Given the description of an element on the screen output the (x, y) to click on. 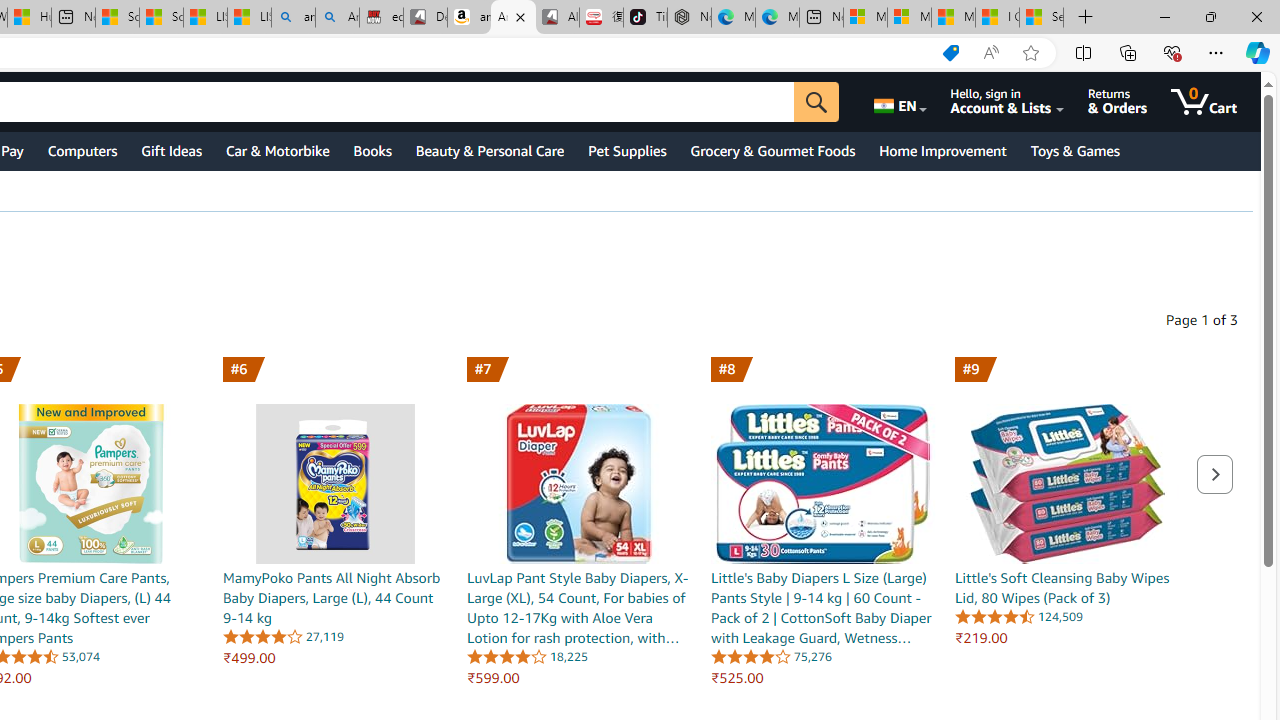
Grocery & Gourmet Foods (772, 150)
amazon - Search (292, 17)
Home Improvement (942, 150)
